Given the description of an element on the screen output the (x, y) to click on. 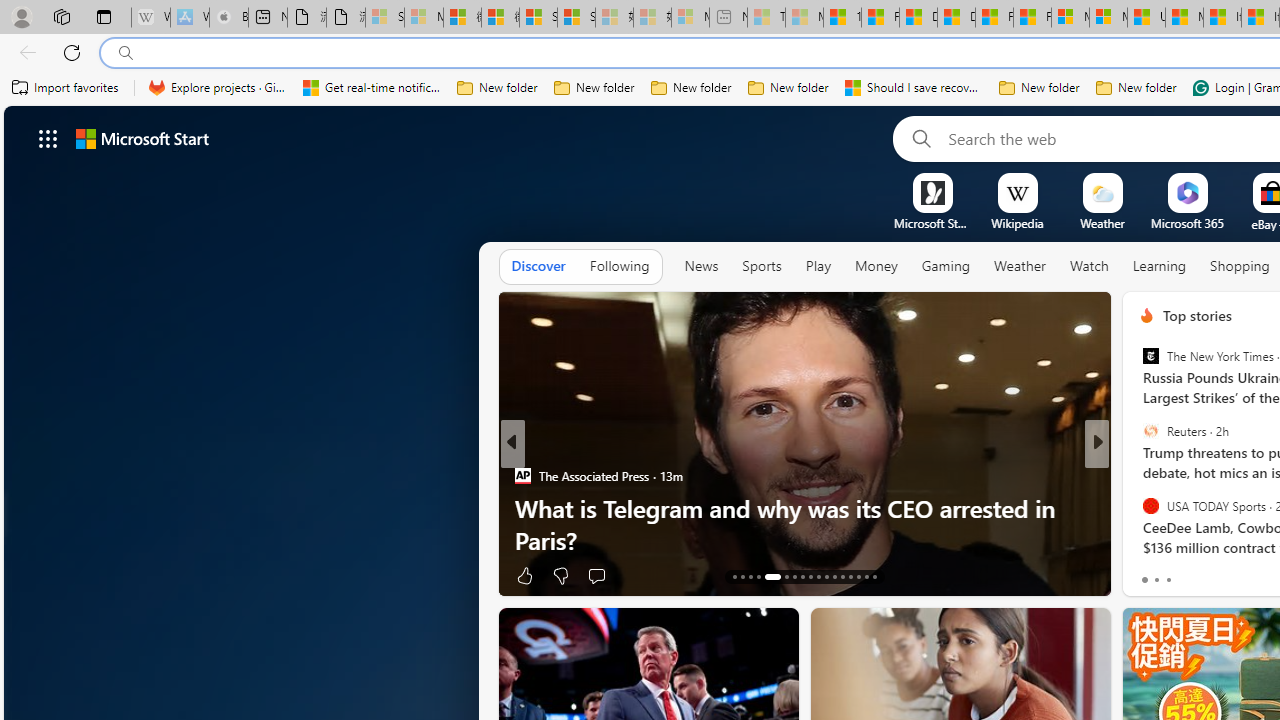
tab-2 (1168, 579)
Search icon (125, 53)
View comments 3 Comment (1234, 575)
221 Like (1151, 574)
15 Like (1149, 574)
Ad Choice (1087, 575)
Lifestyle Trends (1138, 507)
To get missing image descriptions, open the context menu. (932, 192)
Weather (1020, 265)
Gaming (945, 267)
Wikipedia (1017, 223)
USA TODAY Sports (1149, 505)
